Given the description of an element on the screen output the (x, y) to click on. 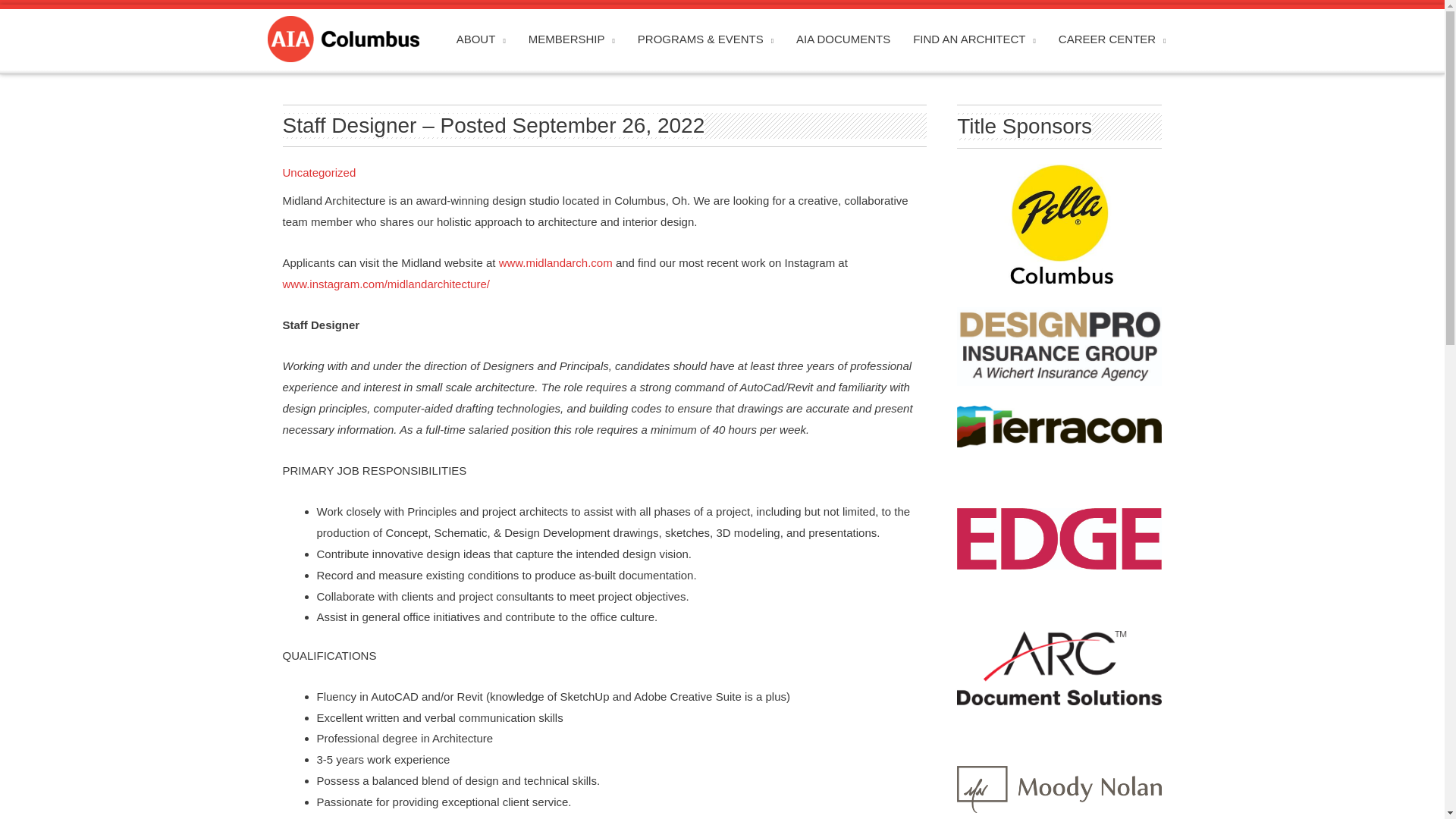
ABOUT (480, 39)
